Given the description of an element on the screen output the (x, y) to click on. 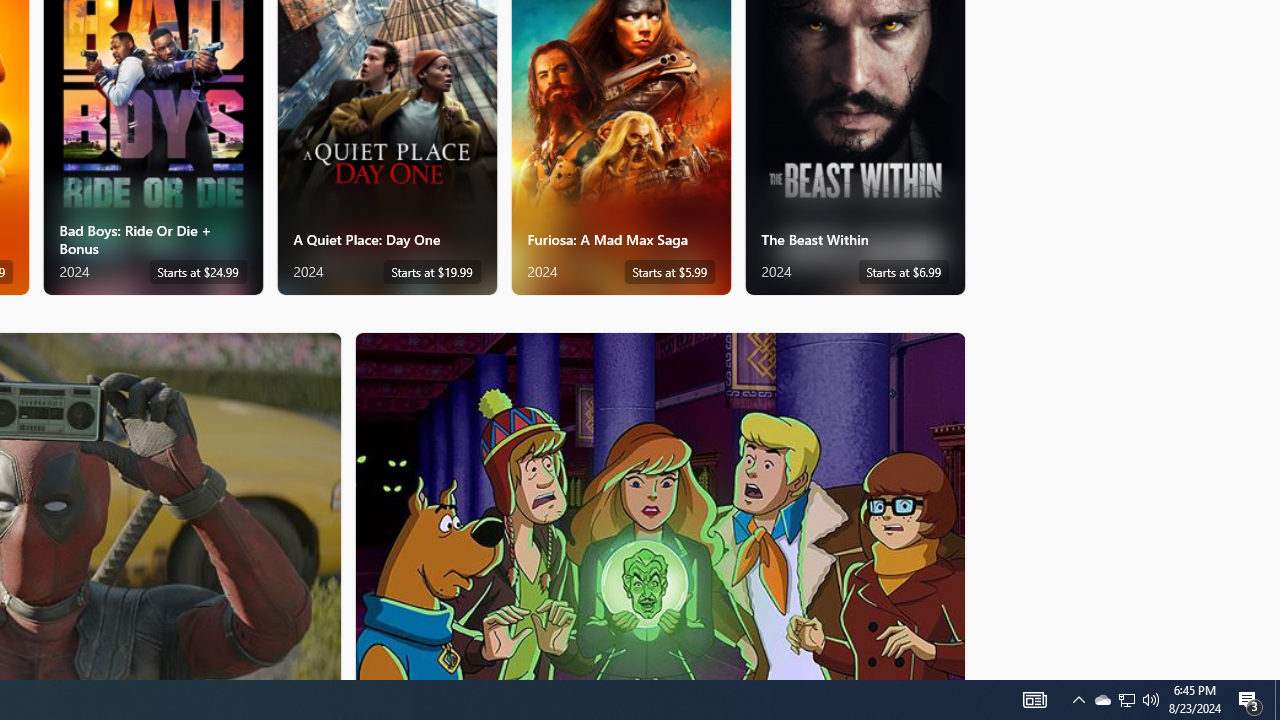
AutomationID: PosterImage (658, 505)
Family (660, 505)
